Given the description of an element on the screen output the (x, y) to click on. 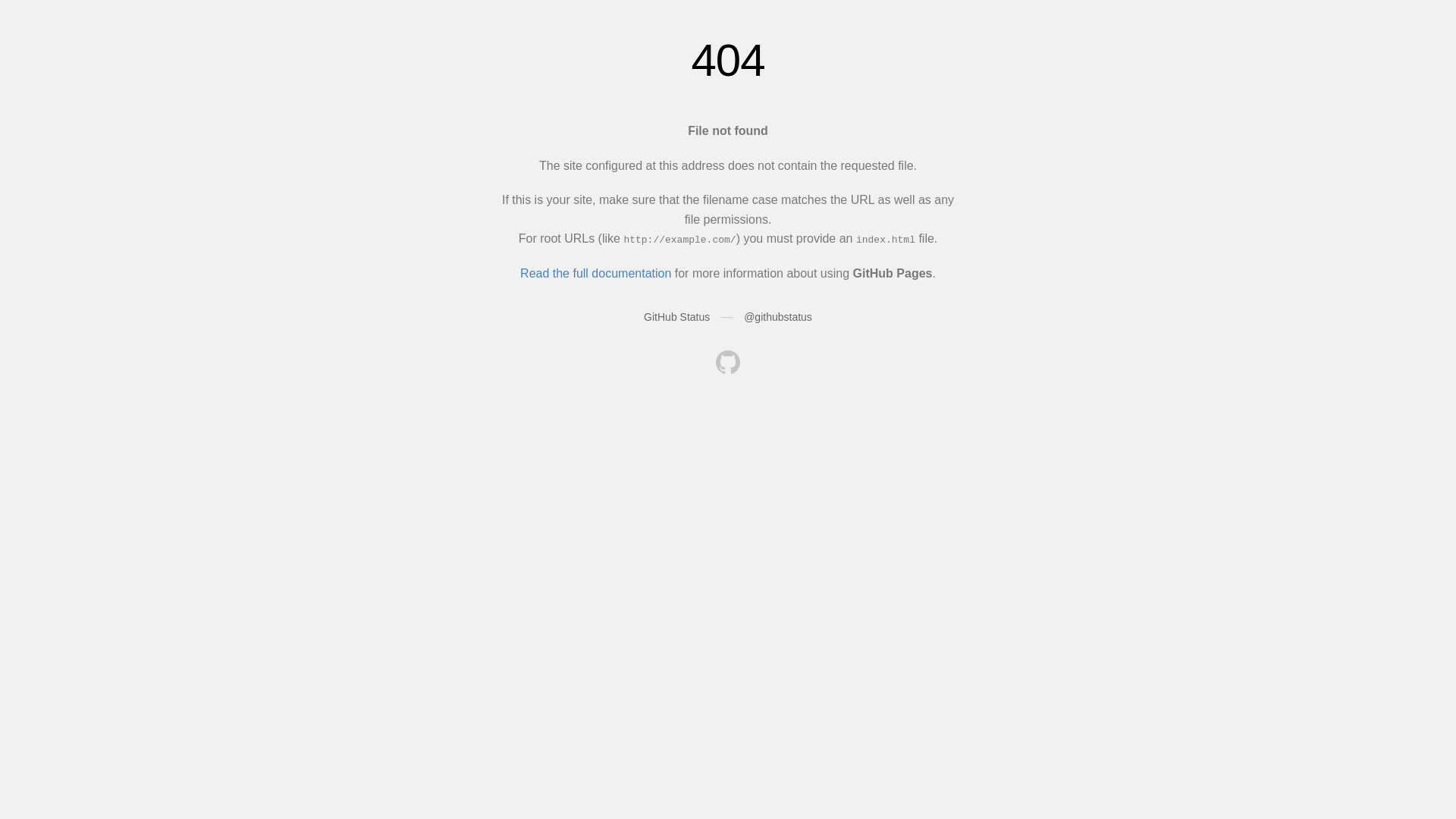
Read the full documentation Element type: text (595, 272)
GitHub Status Element type: text (676, 316)
@githubstatus Element type: text (777, 316)
